Given the description of an element on the screen output the (x, y) to click on. 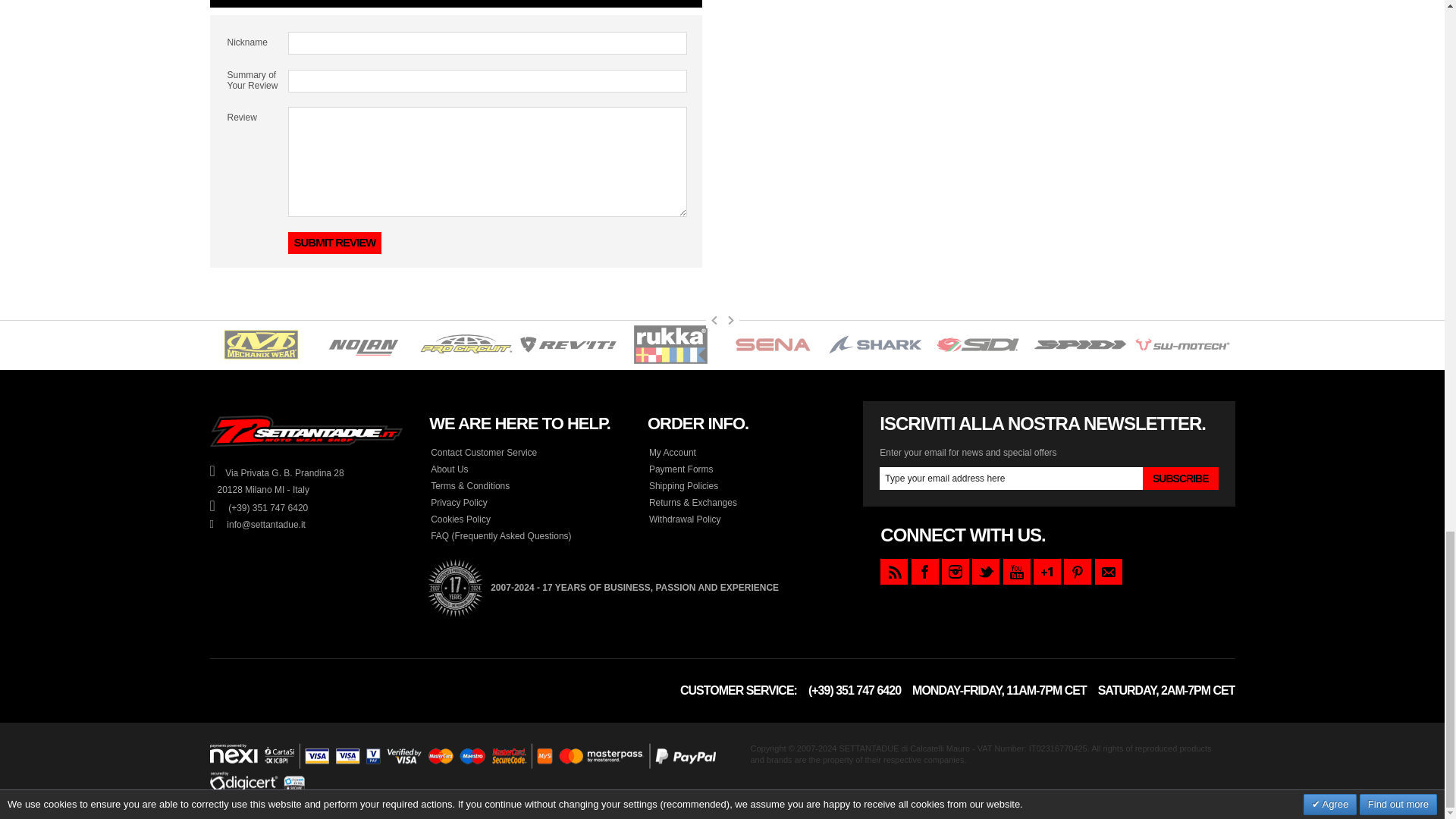
Type your email address here (1010, 477)
